Given the description of an element on the screen output the (x, y) to click on. 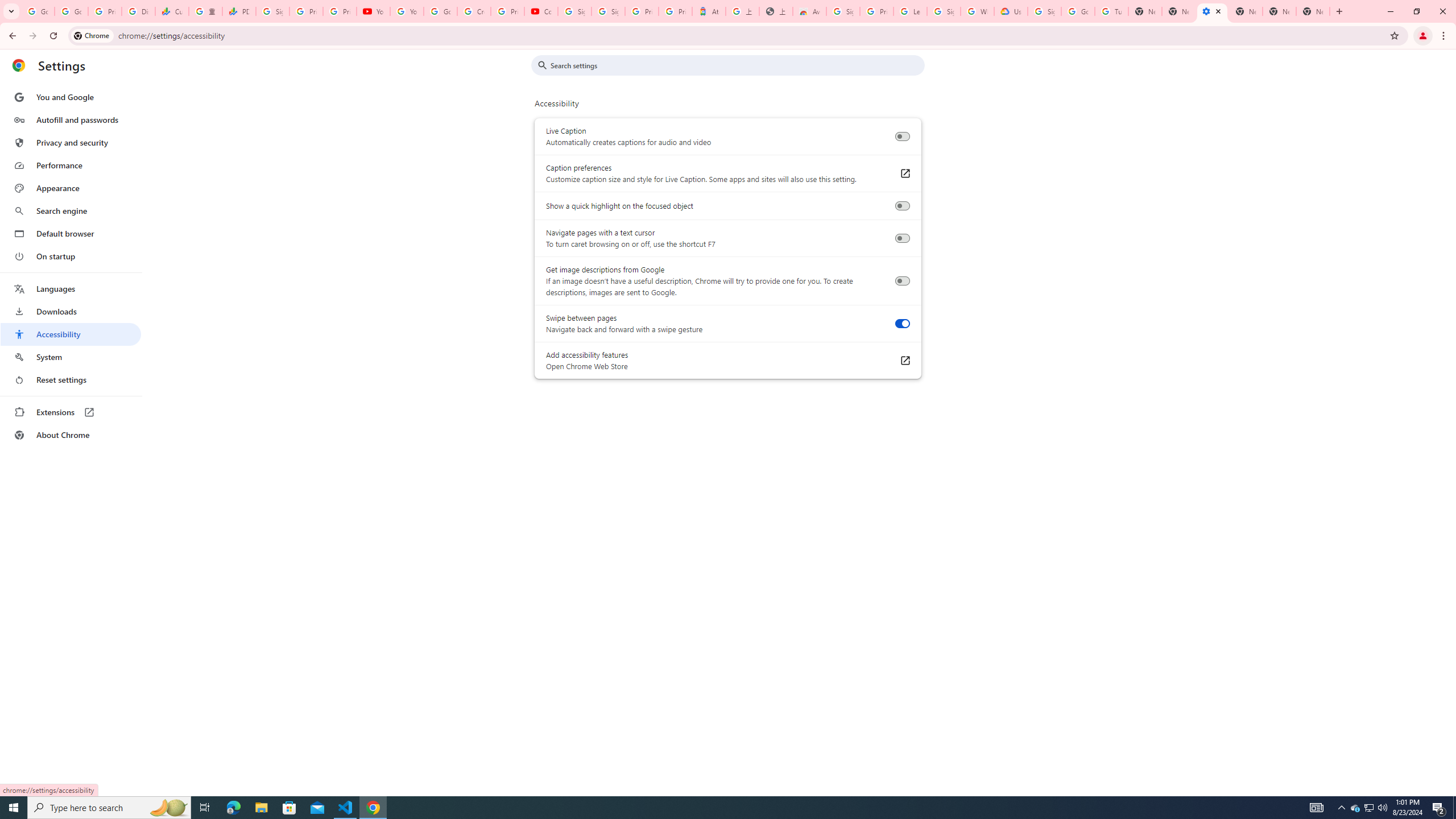
Get image descriptions from Google (901, 280)
Content Creator Programs & Opportunities - YouTube Creators (541, 11)
Reset settings (70, 379)
Performance (70, 164)
Add accessibility features Open Chrome Web Store (904, 360)
Search engine (70, 210)
Sign in - Google Accounts (943, 11)
Sign in - Google Accounts (842, 11)
Privacy Checkup (339, 11)
Create your Google Account (474, 11)
